Given the description of an element on the screen output the (x, y) to click on. 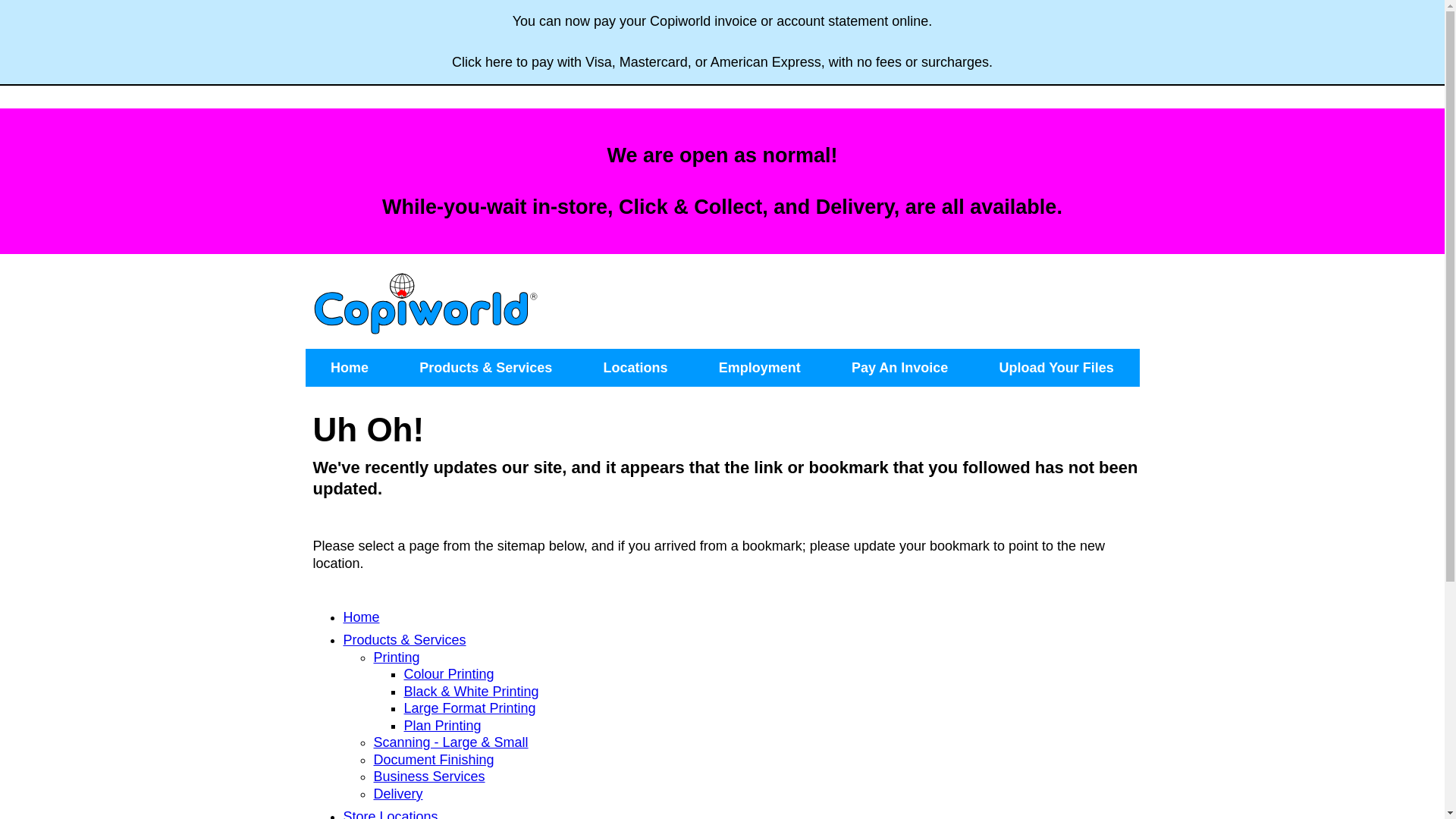
Delivery Element type: text (397, 793)
Products & Services Element type: text (485, 367)
Home Element type: text (349, 367)
Pay An Invoice Element type: text (899, 367)
Printing Element type: text (396, 657)
Scanning - Large & Small Element type: text (450, 741)
Large Format Printing Element type: text (469, 707)
Upload Your Files Element type: text (1055, 367)
Black & White Printing Element type: text (470, 691)
Locations Element type: text (635, 367)
Products & Services Element type: text (403, 639)
Colour Printing Element type: text (448, 673)
Document Finishing Element type: text (433, 759)
Plan Printing Element type: text (441, 725)
Business Services Element type: text (428, 776)
Home Element type: text (360, 616)
Employment Element type: text (759, 367)
